Given the description of an element on the screen output the (x, y) to click on. 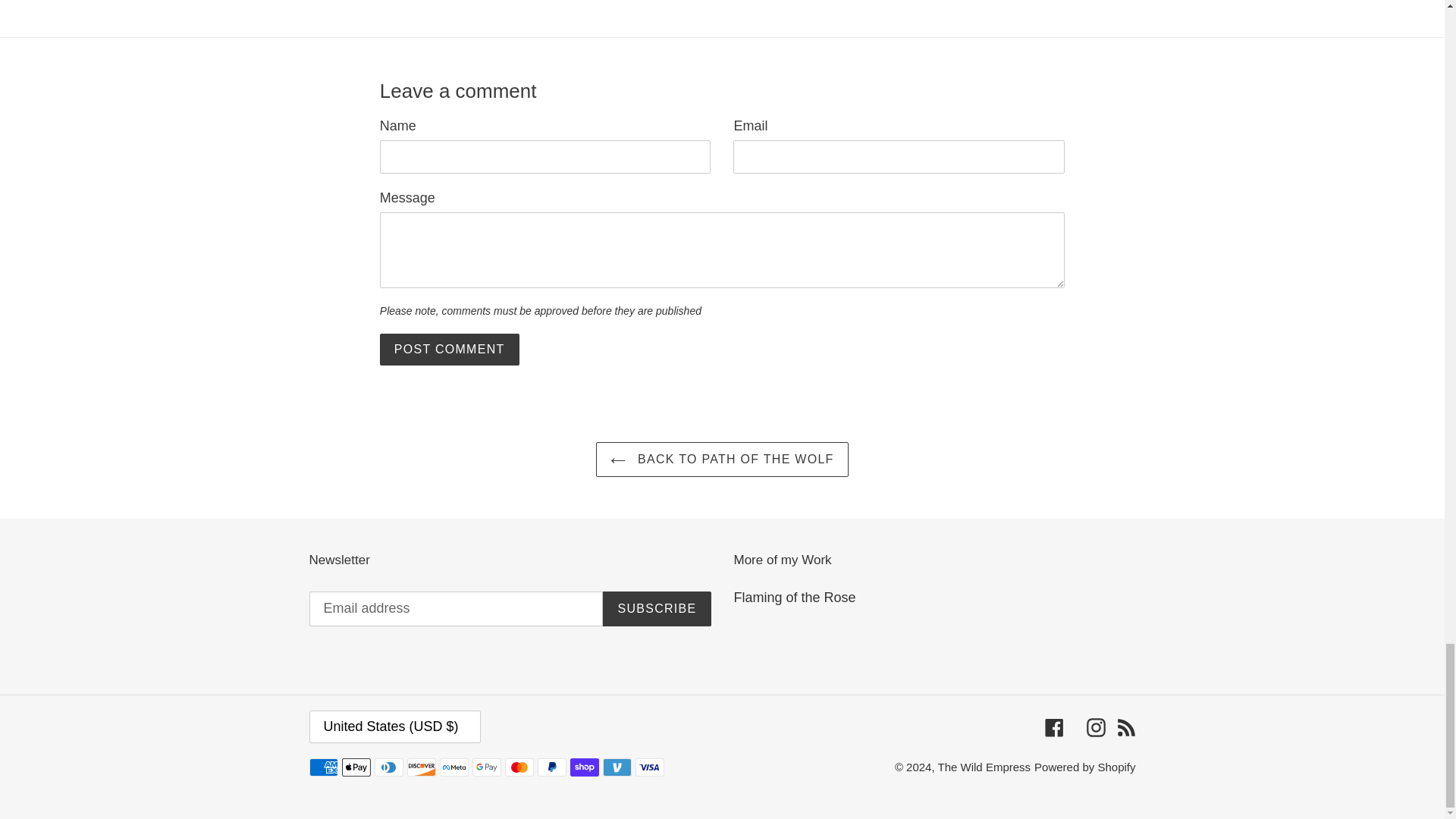
Post comment (449, 348)
